Given the description of an element on the screen output the (x, y) to click on. 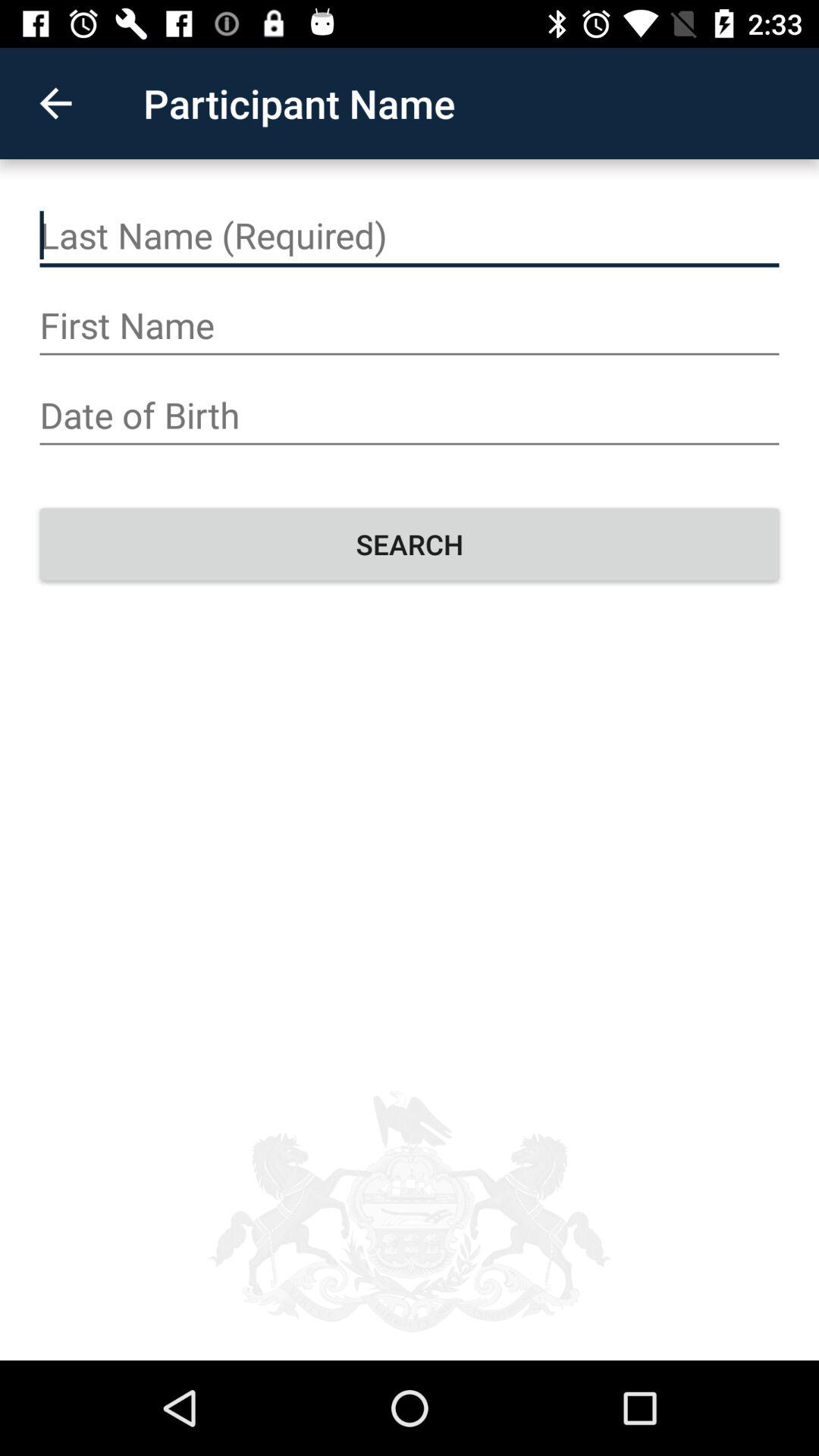
choose the icon at the top left corner (55, 103)
